Given the description of an element on the screen output the (x, y) to click on. 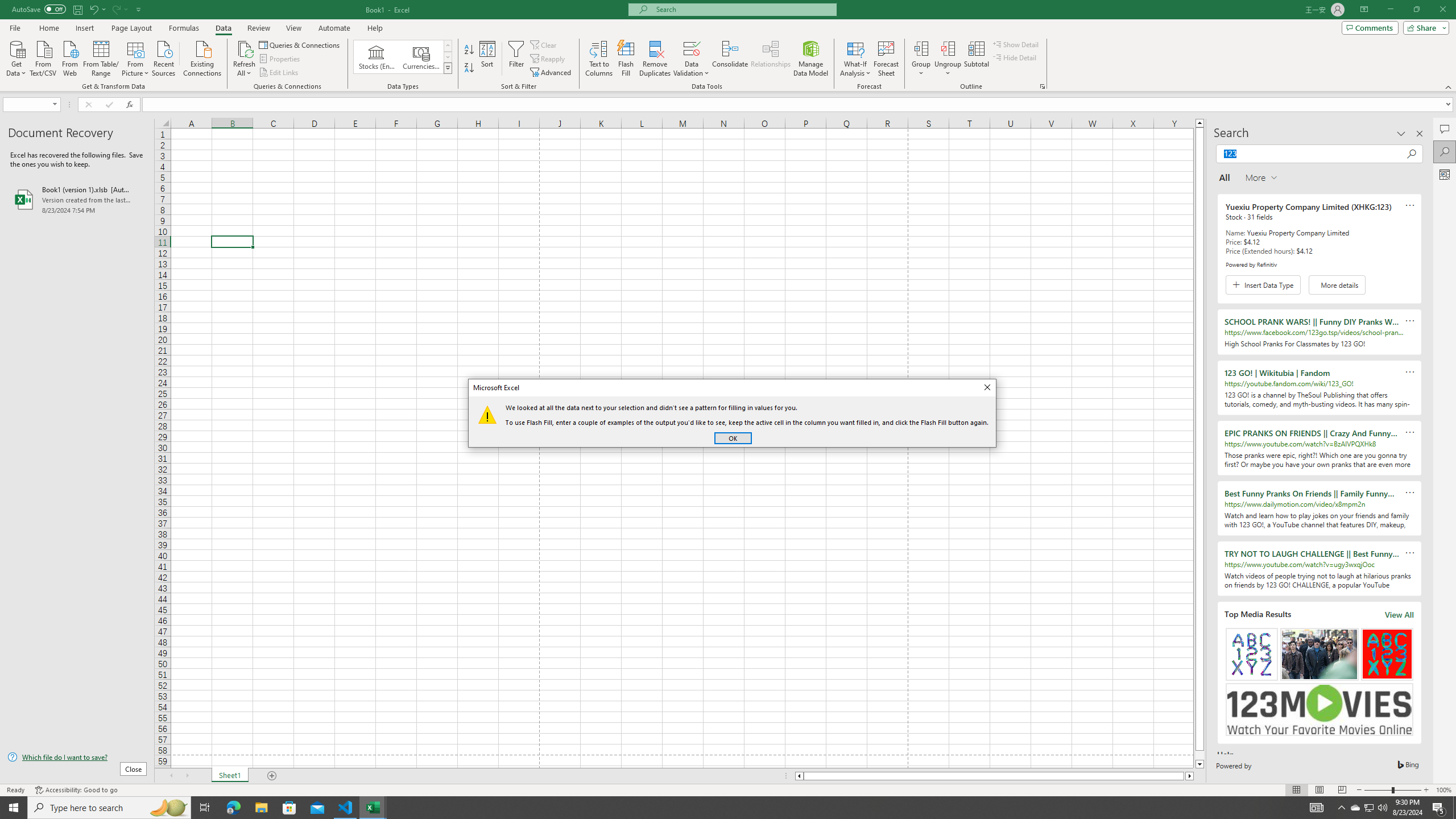
AutomationID: 4105 (1316, 807)
Type here to search (108, 807)
Action Center, 5 new notifications (1439, 807)
Running applications (717, 807)
